Given the description of an element on the screen output the (x, y) to click on. 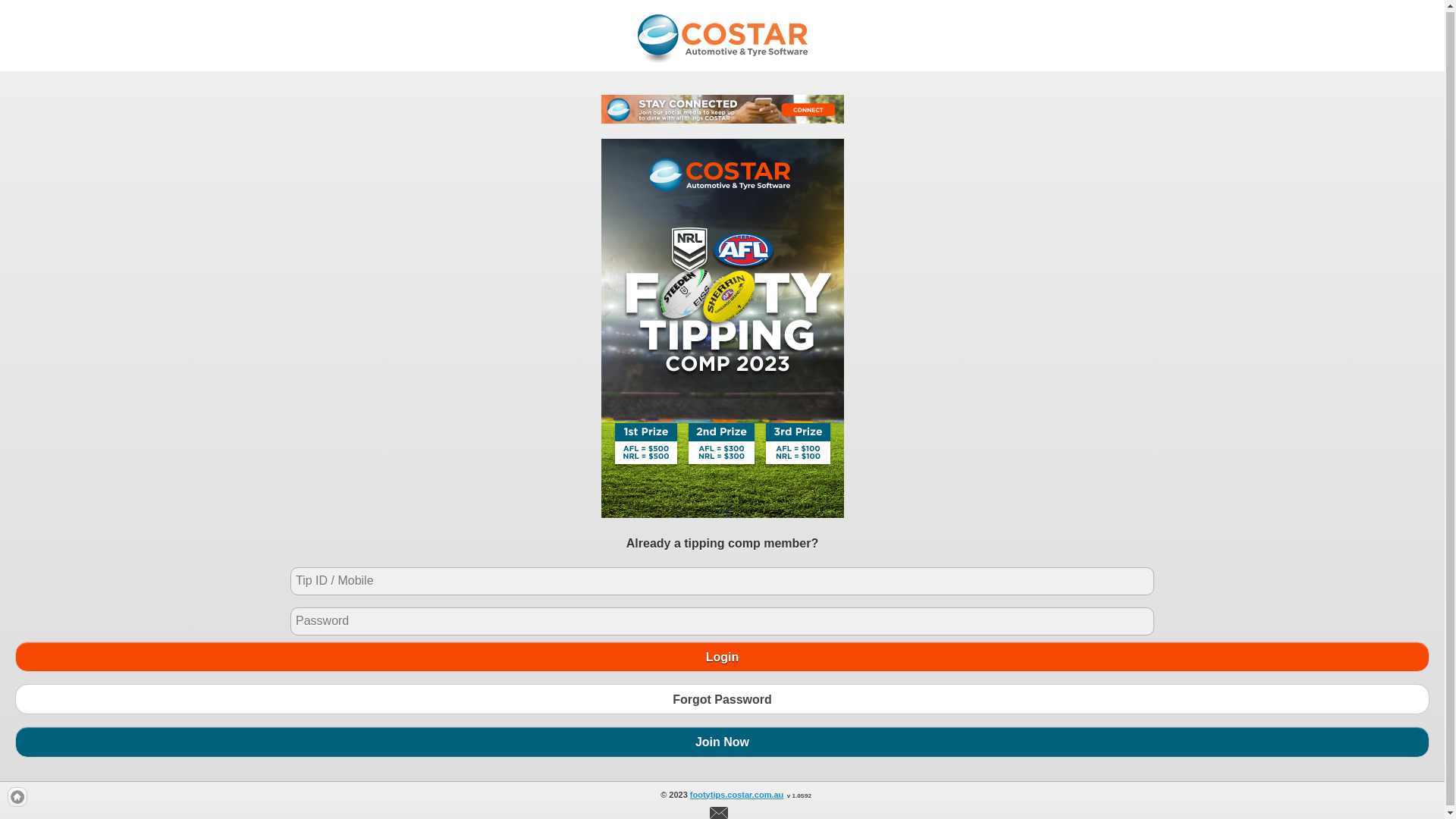
Login Element type: text (721, 657)
Join Now Element type: text (722, 742)
footytips.costar.com.au Element type: text (736, 795)
Forgot Password Element type: text (722, 699)
Home Element type: hover (17, 797)
